Given the description of an element on the screen output the (x, y) to click on. 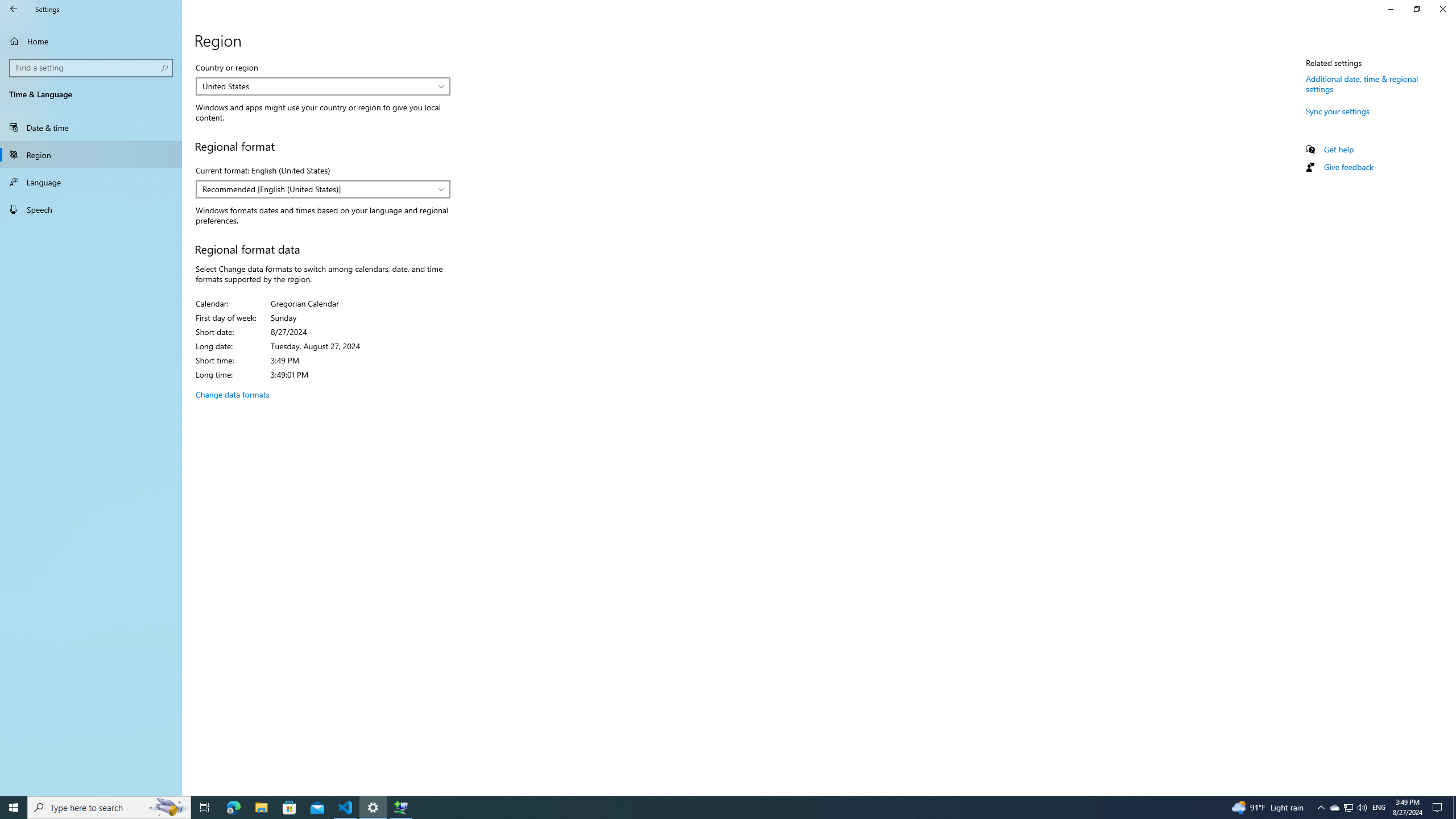
United States (317, 86)
Country or region (322, 85)
Change data formats (232, 394)
Speech (91, 208)
Date & time (91, 126)
